Given the description of an element on the screen output the (x, y) to click on. 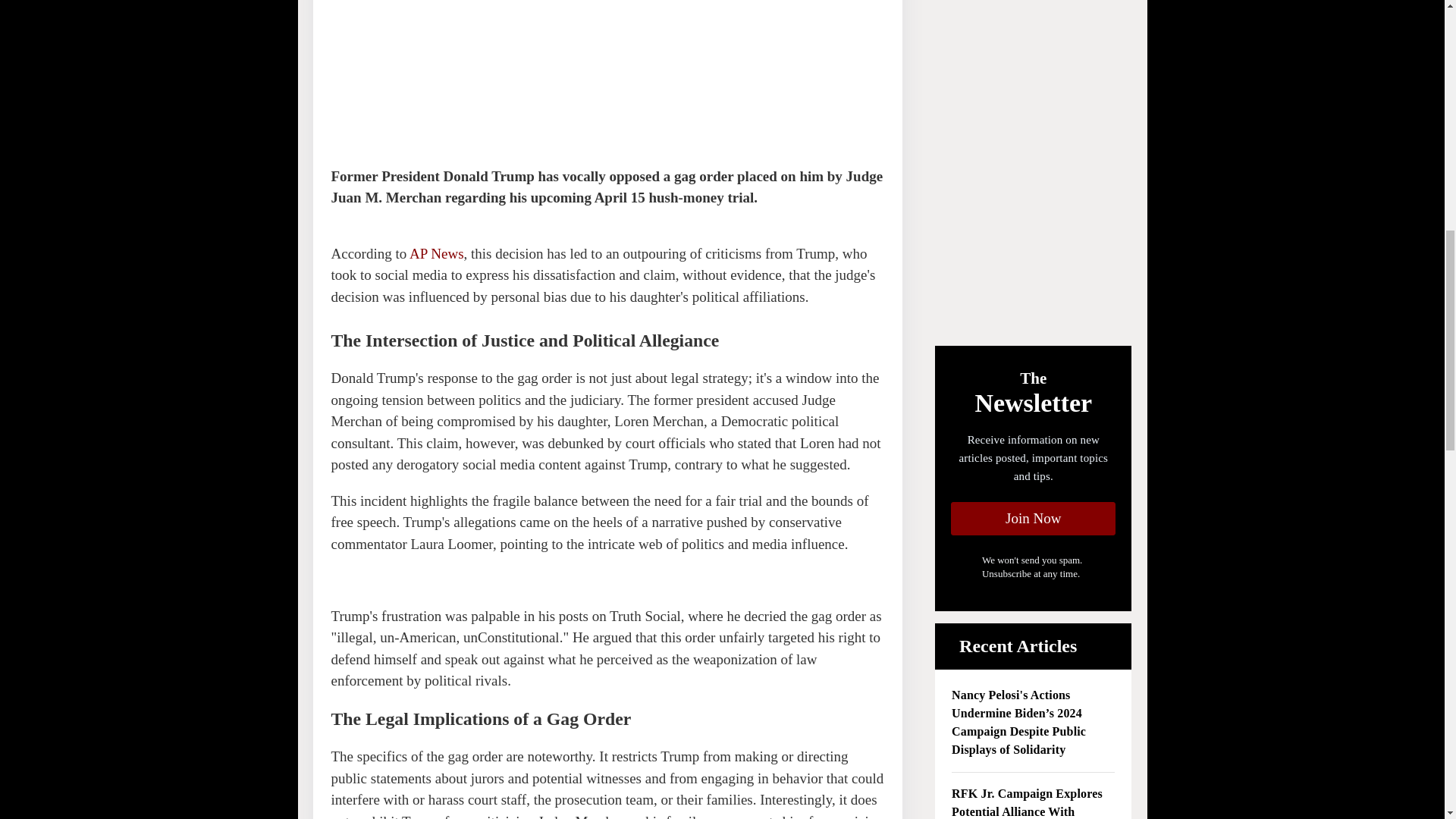
Join Now (1032, 519)
AP News (436, 253)
Advertisement (443, 72)
